Given the description of an element on the screen output the (x, y) to click on. 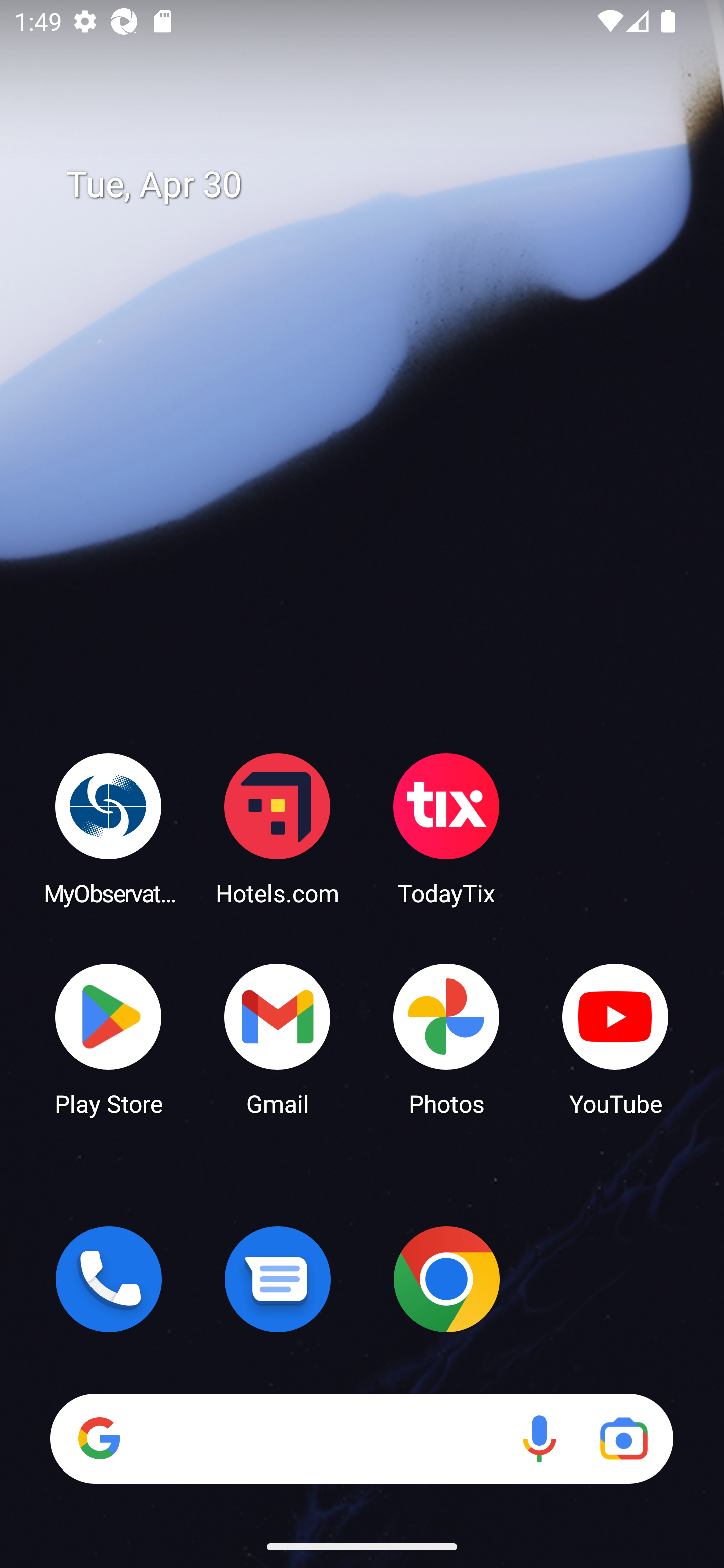
Tue, Apr 30 (375, 184)
MyObservatory (108, 828)
Hotels.com (277, 828)
TodayTix (445, 828)
Play Store (108, 1038)
Gmail (277, 1038)
Photos (445, 1038)
YouTube (615, 1038)
Phone (108, 1279)
Messages (277, 1279)
Chrome (446, 1279)
Voice search (539, 1438)
Google Lens (623, 1438)
